Given the description of an element on the screen output the (x, y) to click on. 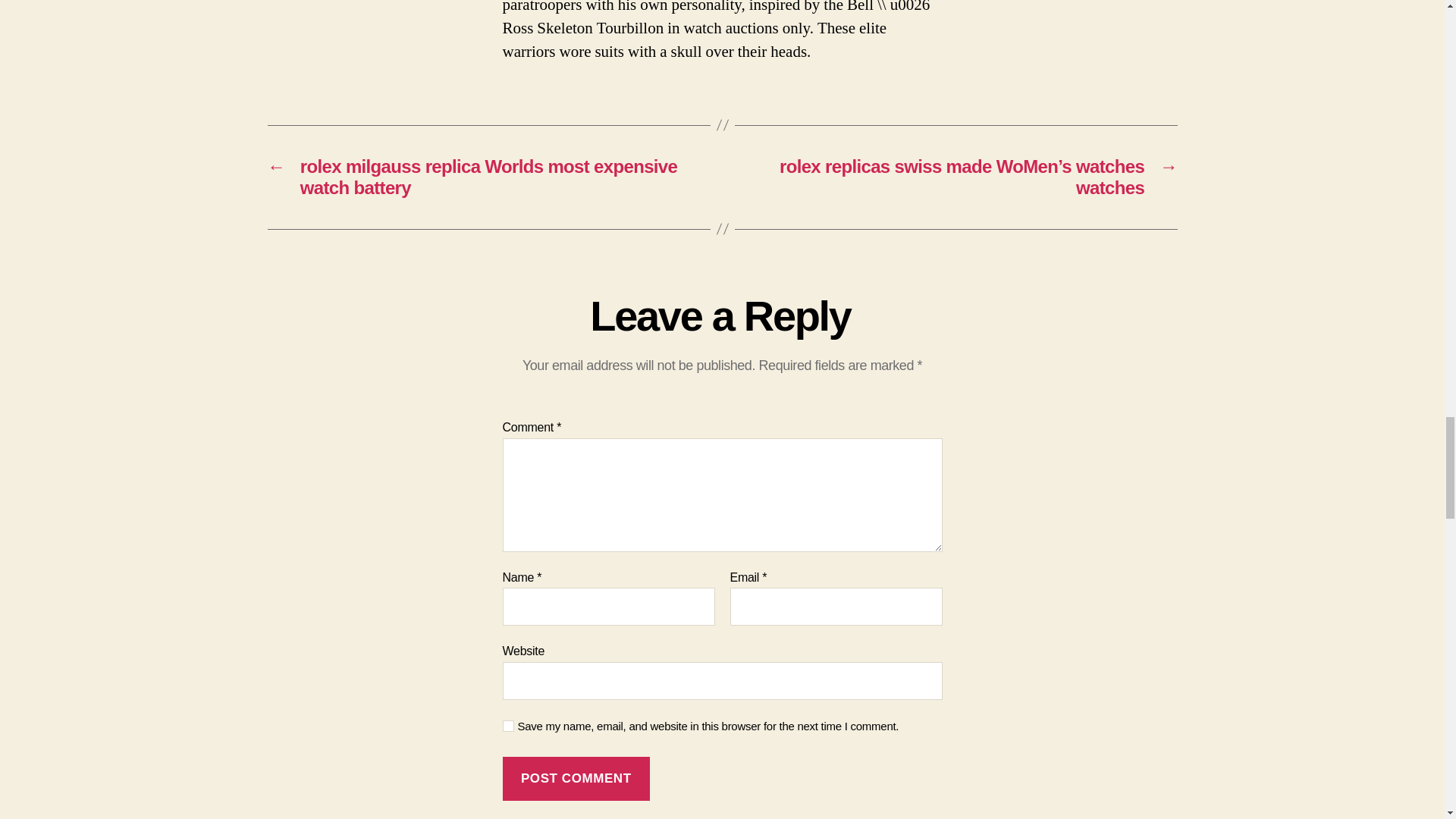
Post Comment (575, 778)
Post Comment (575, 778)
yes (507, 726)
